Given the description of an element on the screen output the (x, y) to click on. 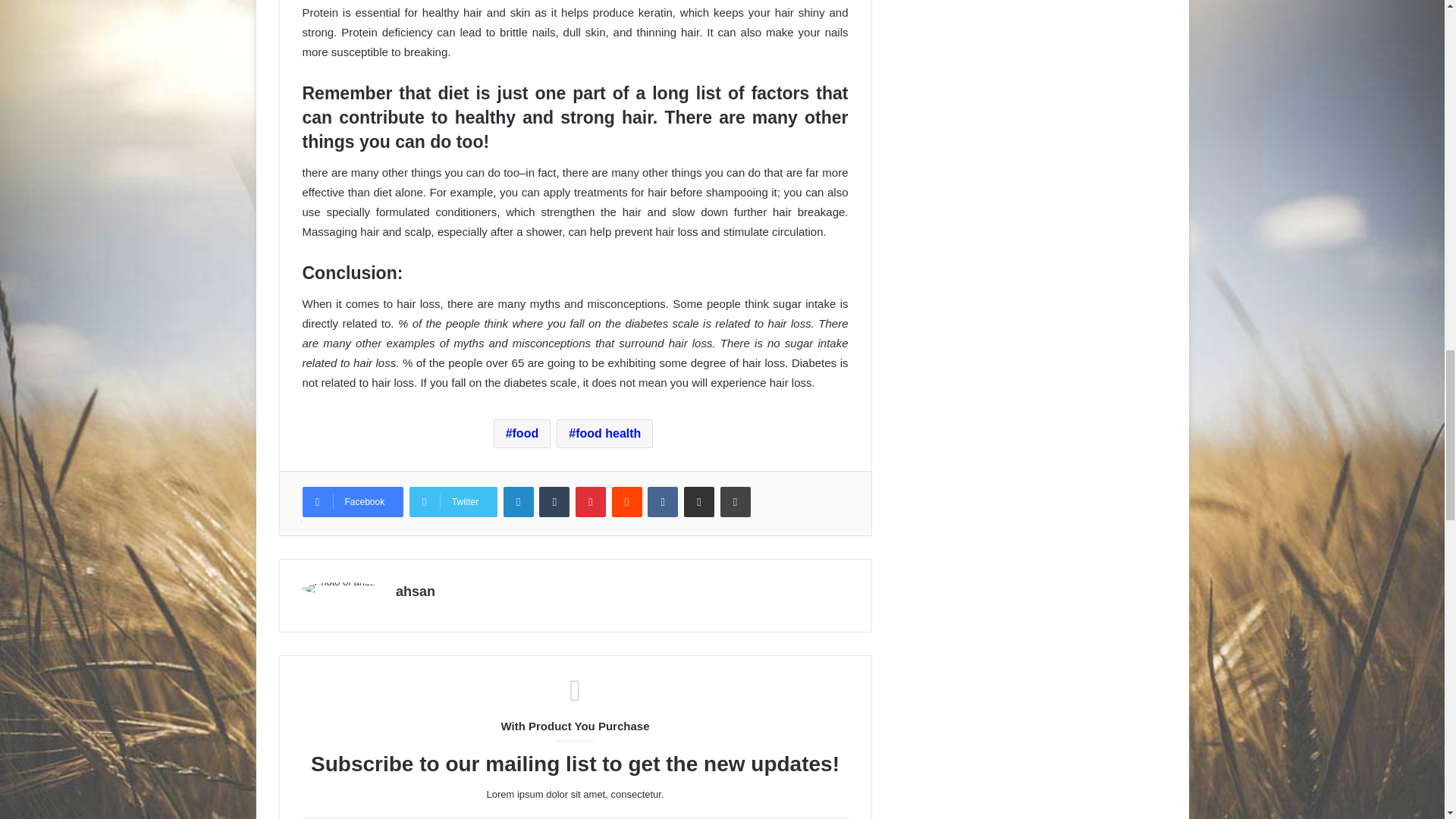
Twitter (453, 501)
LinkedIn (518, 501)
food (522, 433)
Tumblr (553, 501)
Facebook (352, 501)
Facebook (352, 501)
Pinterest (590, 501)
food health (604, 433)
